Given the description of an element on the screen output the (x, y) to click on. 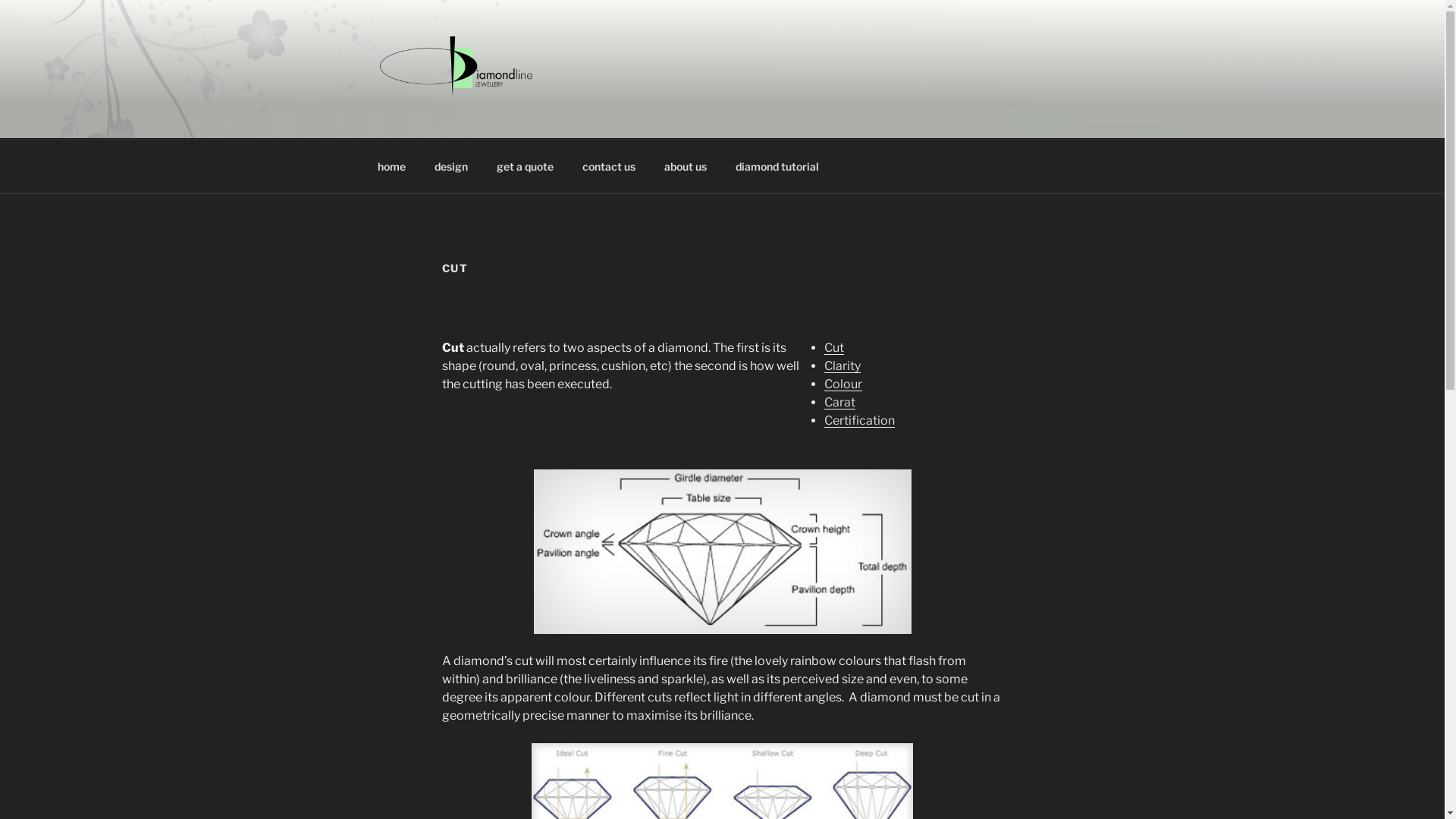
design Element type: text (451, 165)
Certification Element type: text (858, 420)
Carat Element type: text (838, 402)
home Element type: text (391, 165)
Colour Element type: text (842, 383)
DIAMONDLINE JEWELLERY Element type: text (592, 118)
Clarity Element type: text (841, 365)
contact us Element type: text (608, 165)
get a quote Element type: text (525, 165)
Cut Element type: text (833, 347)
diamond tutorial Element type: text (776, 165)
about us Element type: text (684, 165)
